Given the description of an element on the screen output the (x, y) to click on. 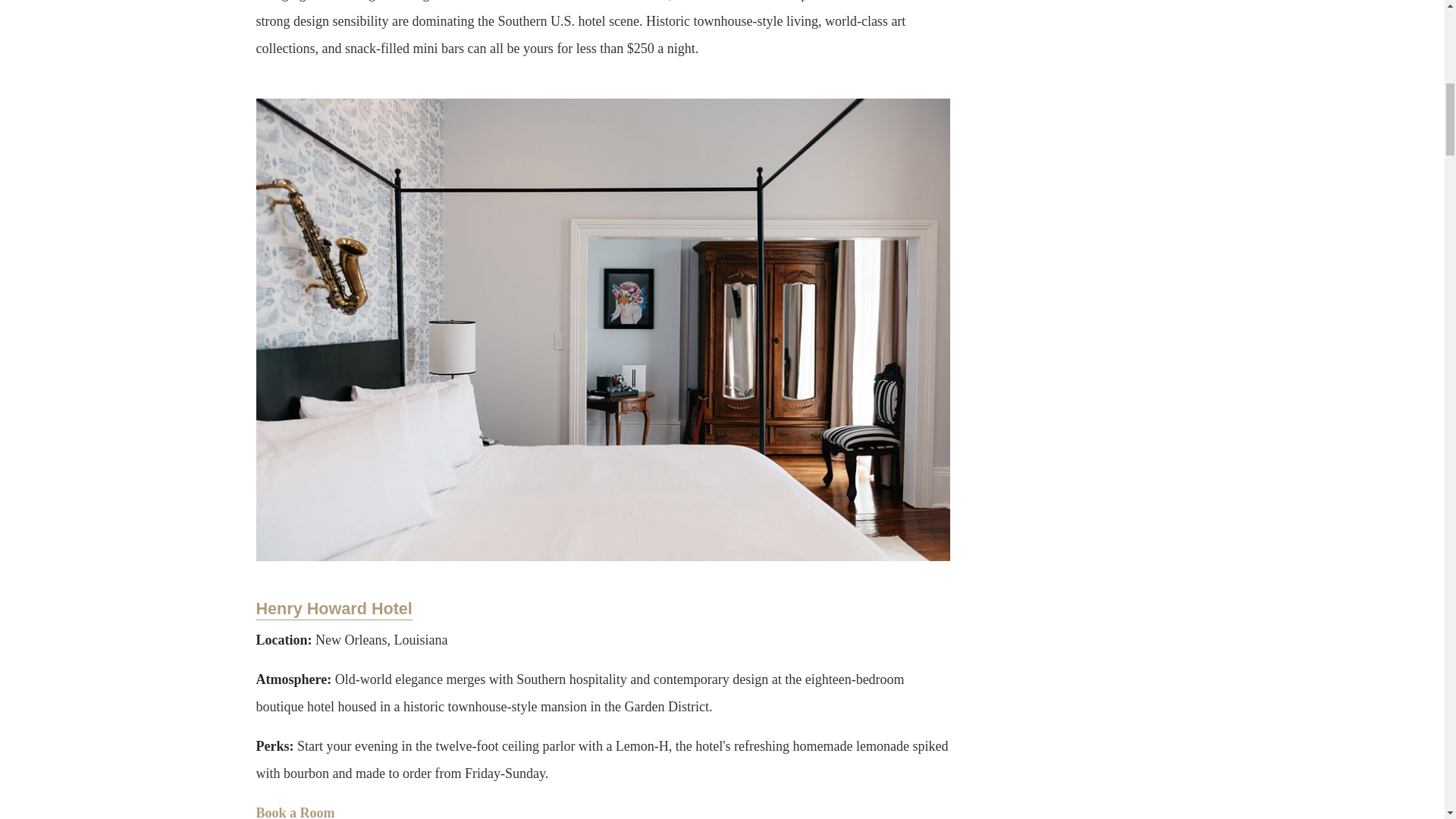
Henry Howard Hotel (334, 608)
Book a Room (295, 812)
Henry Howard Hotel (334, 608)
Book Henry Howard Hotel (295, 812)
